Given the description of an element on the screen output the (x, y) to click on. 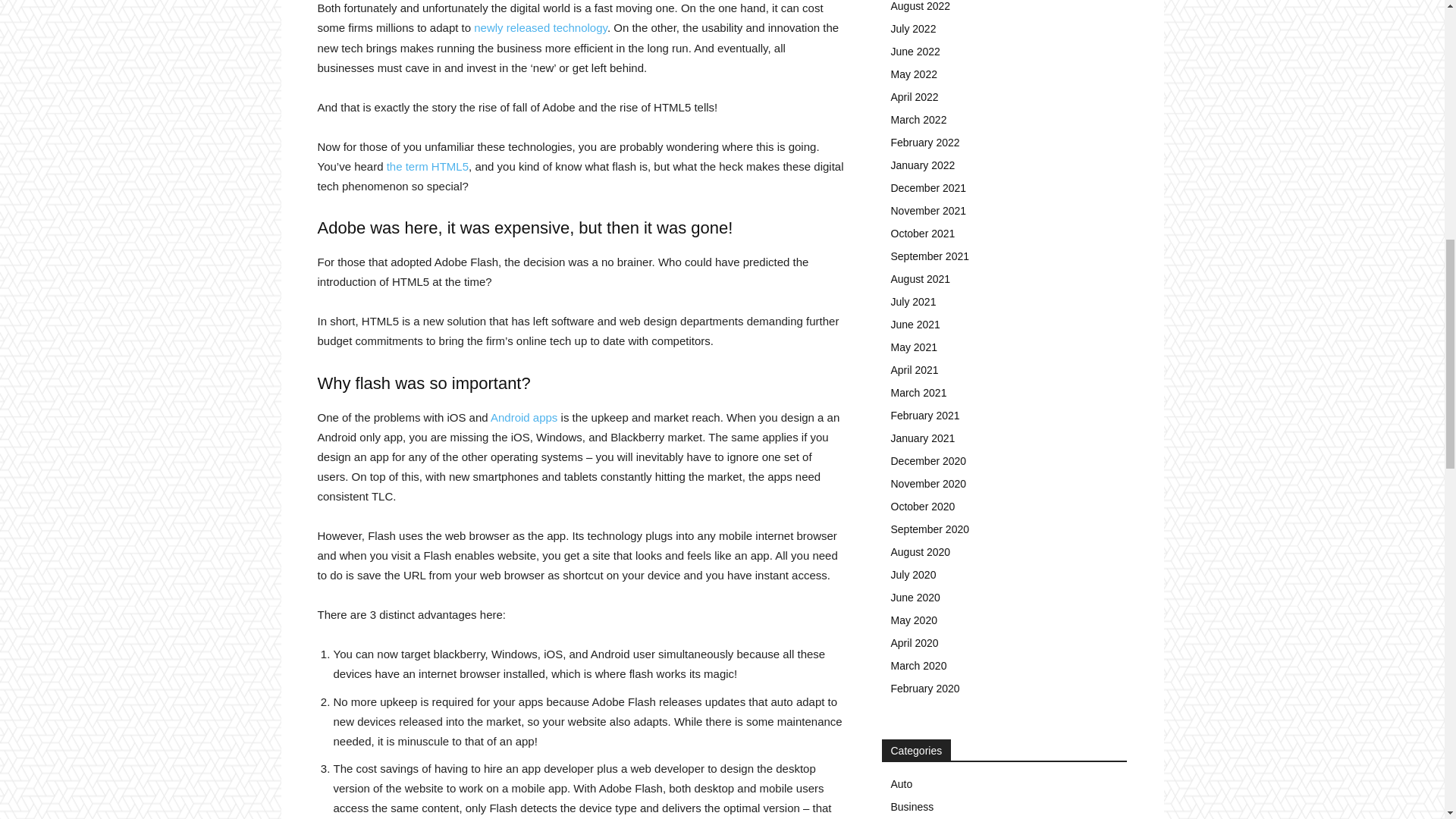
Android apps (523, 417)
newly released technology (540, 27)
the term HTML5 (427, 165)
